Given the description of an element on the screen output the (x, y) to click on. 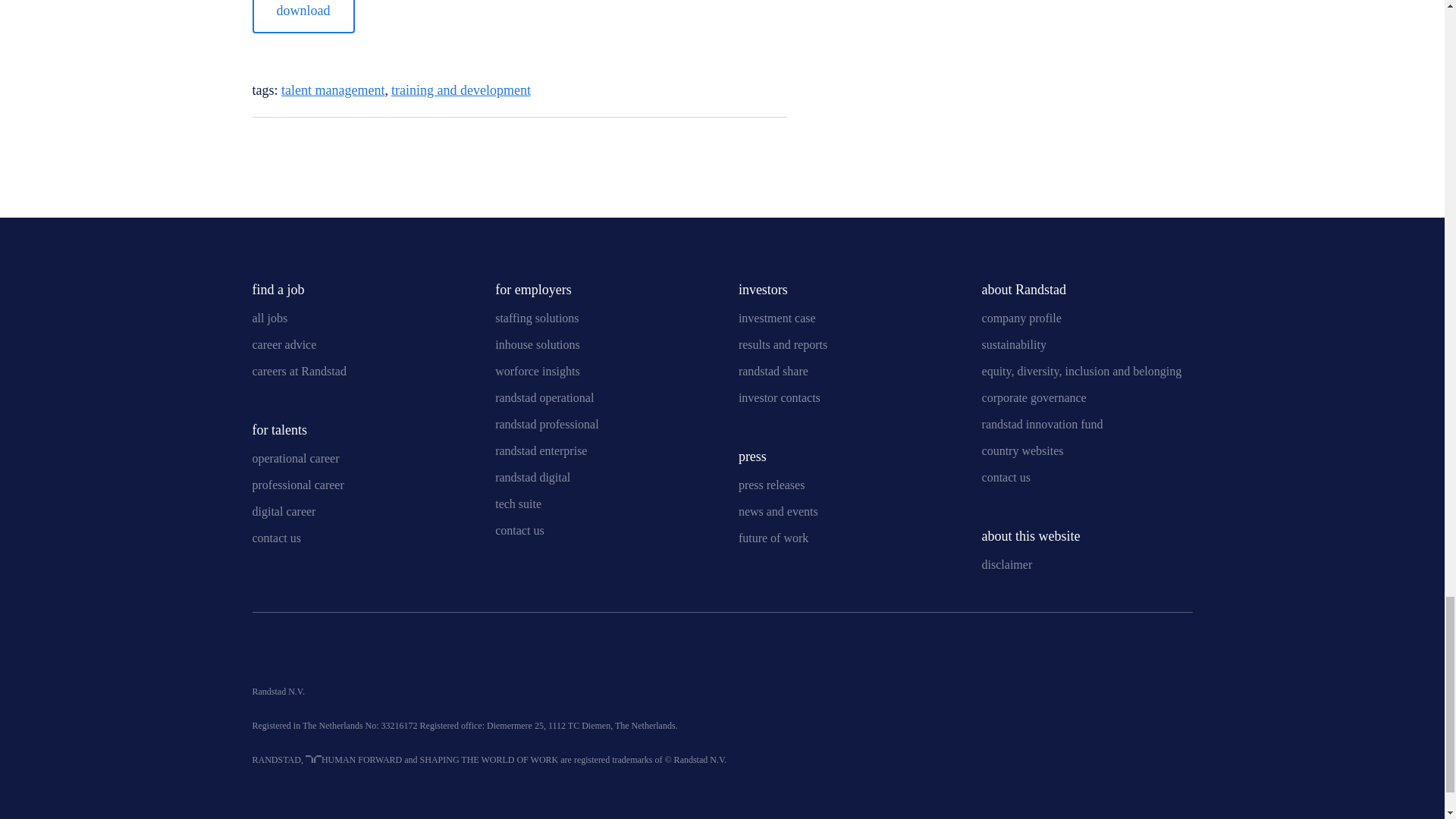
linkedin (263, 653)
youtube (301, 653)
share this article on twitter (735, 144)
share this article on facebook (774, 144)
email this article (258, 147)
share this article on linkedin (695, 144)
print this article (289, 147)
